Given the description of an element on the screen output the (x, y) to click on. 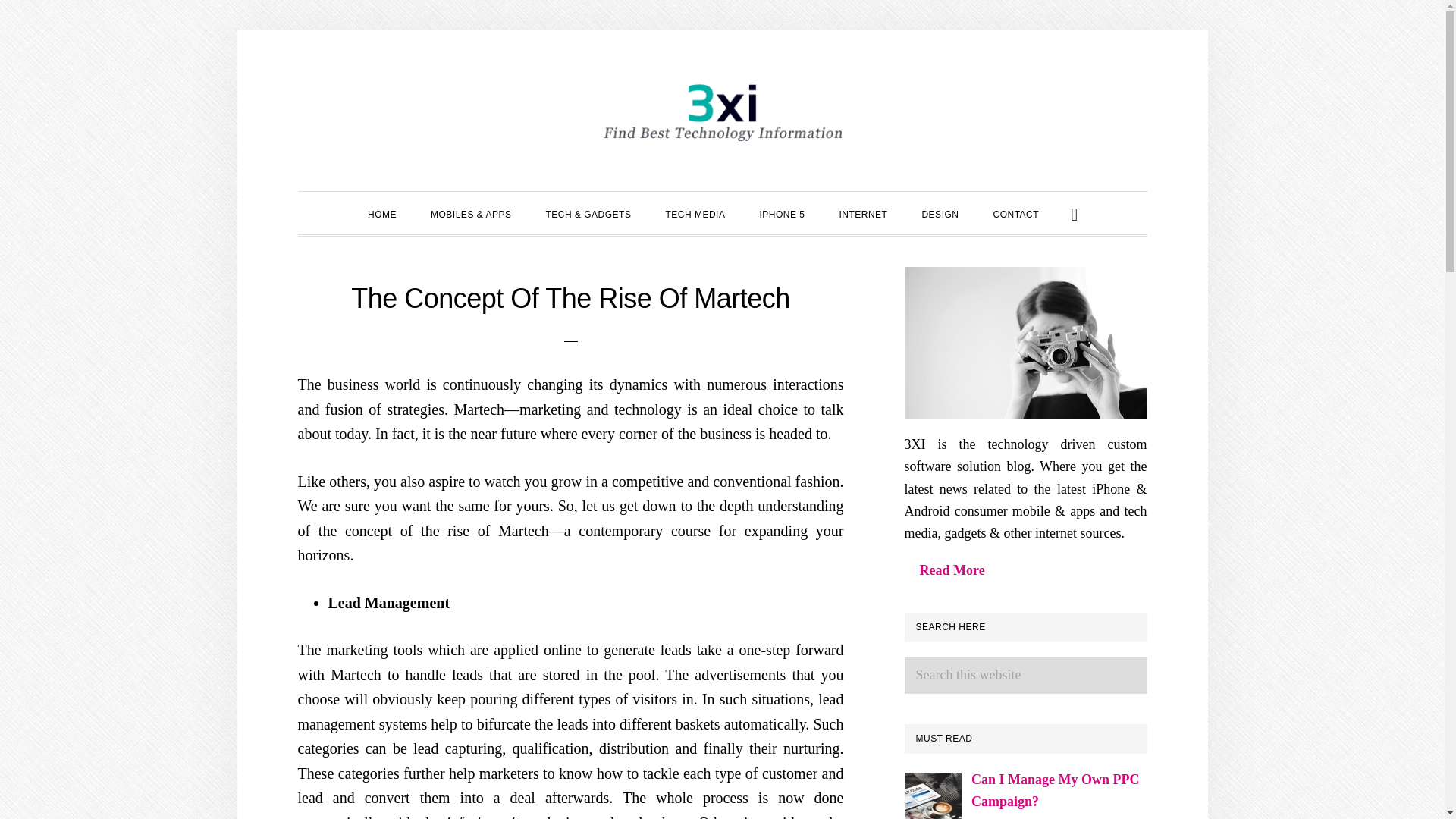
Can I Manage My Own PPC Campaign? (1055, 790)
IPHONE 5 (781, 212)
TECH MEDIA (694, 212)
INTERNET (863, 212)
3XI BLOG (721, 113)
Read More (951, 569)
CONTACT (1015, 212)
